Given the description of an element on the screen output the (x, y) to click on. 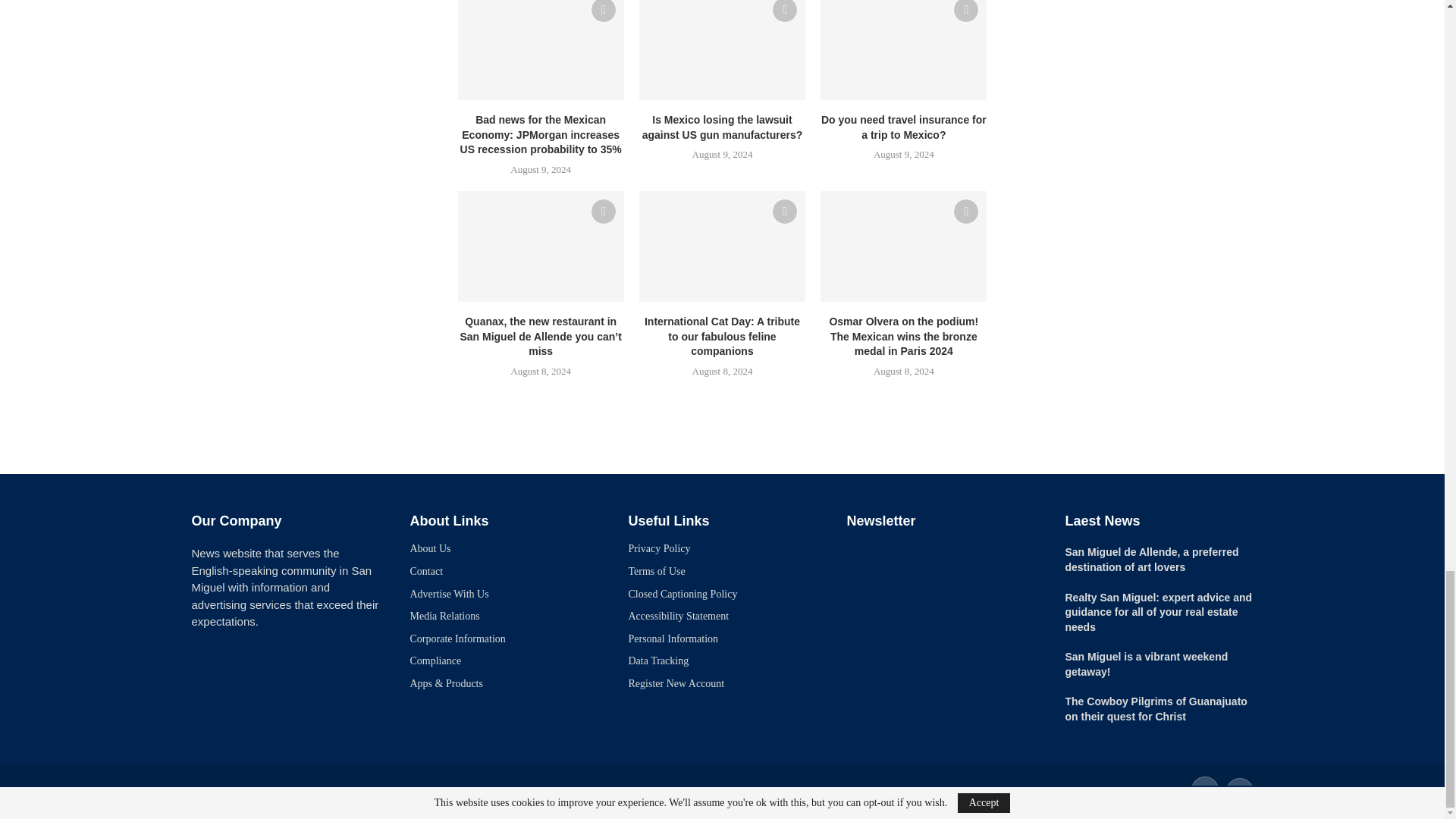
Is Mexico losing the lawsuit against US gun manufacturers? (722, 49)
Do you need travel insurance for a trip to Mexico? (904, 49)
